Given the description of an element on the screen output the (x, y) to click on. 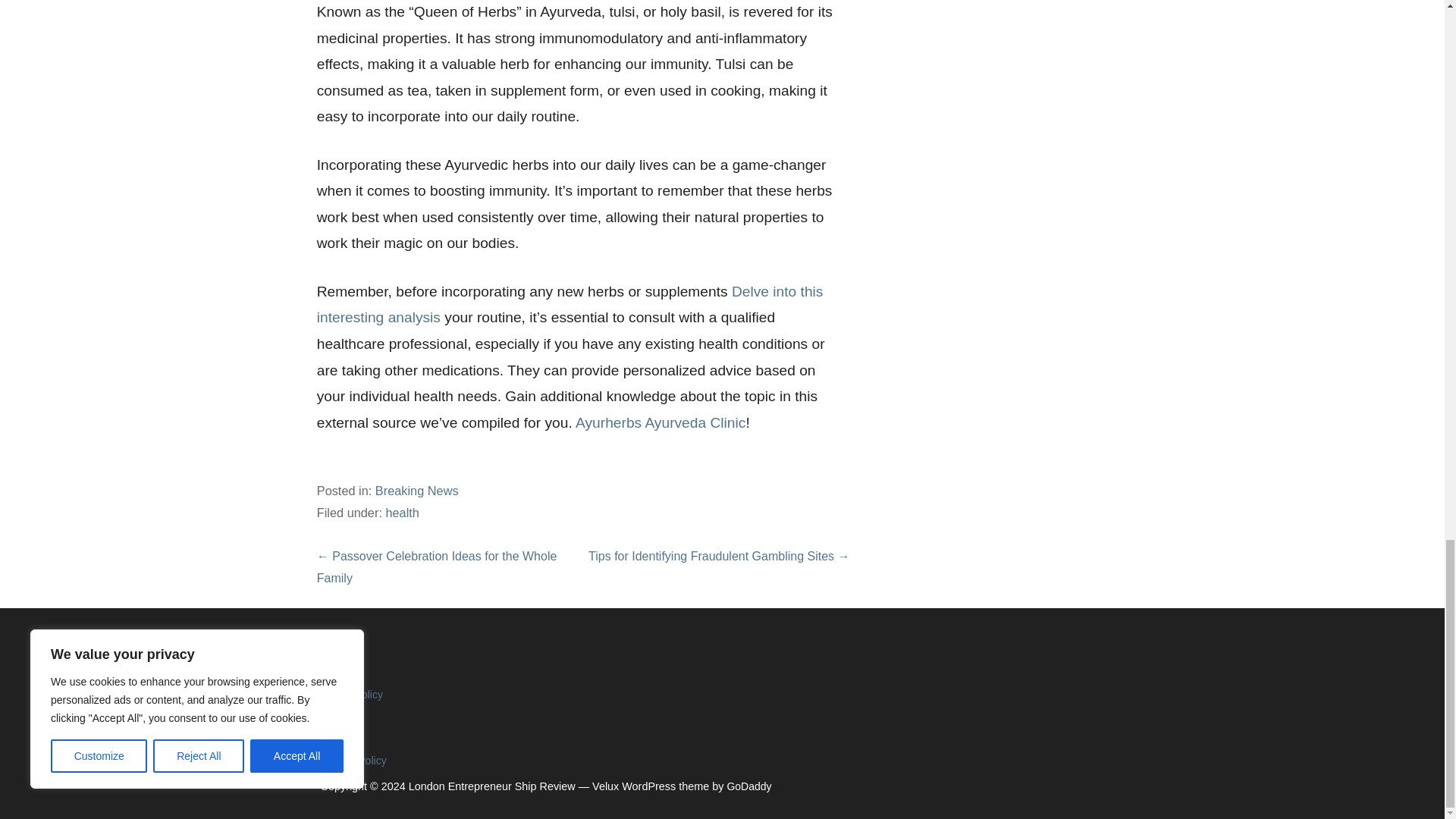
Ayurherbs Ayurveda Clinic (660, 422)
Breaking News (416, 490)
health (402, 512)
Delve into this interesting analysis (570, 304)
